Given the description of an element on the screen output the (x, y) to click on. 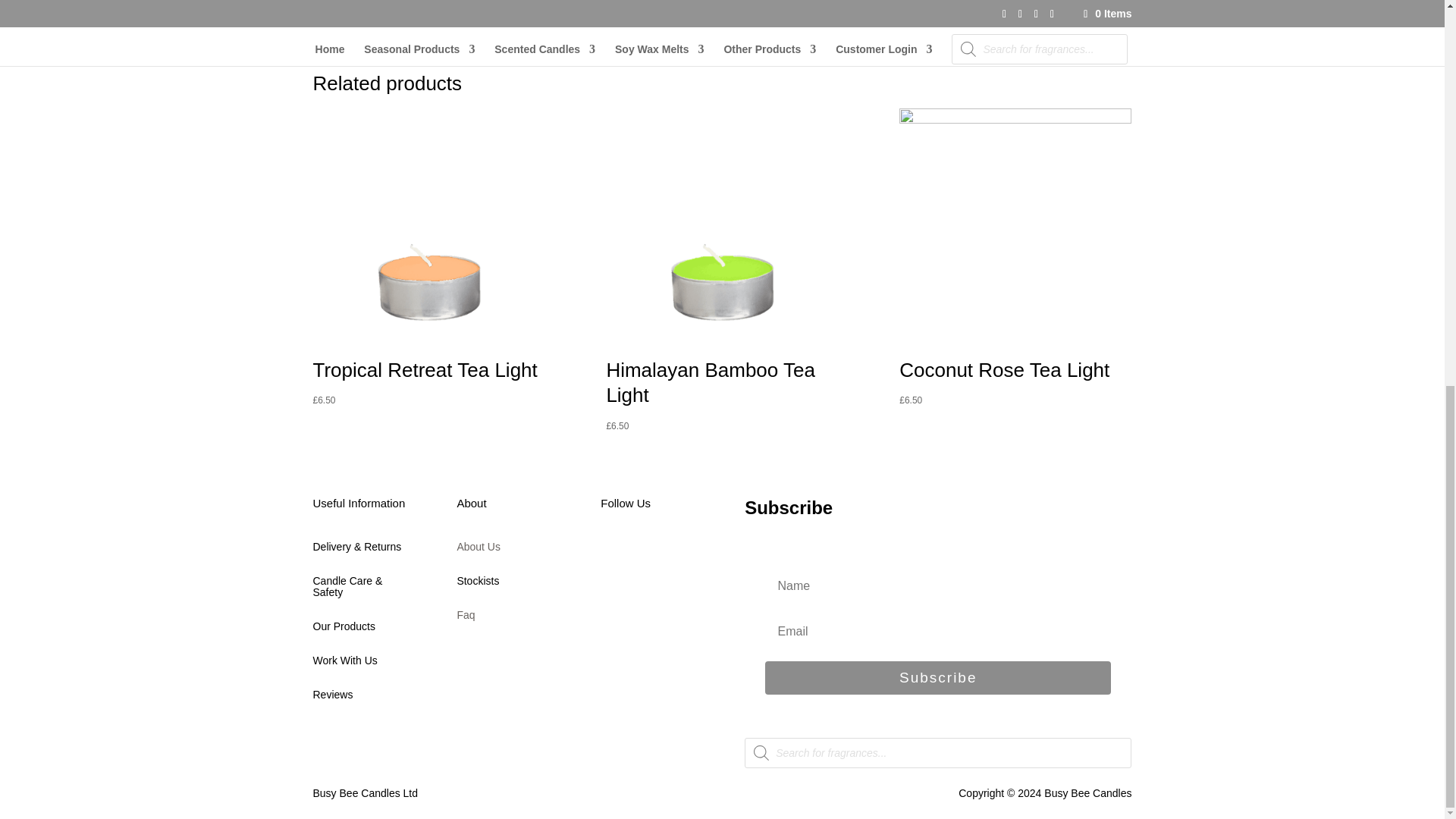
Follow on Instagram (673, 553)
Follow on Facebook (611, 553)
Follow on X (642, 553)
